Given the description of an element on the screen output the (x, y) to click on. 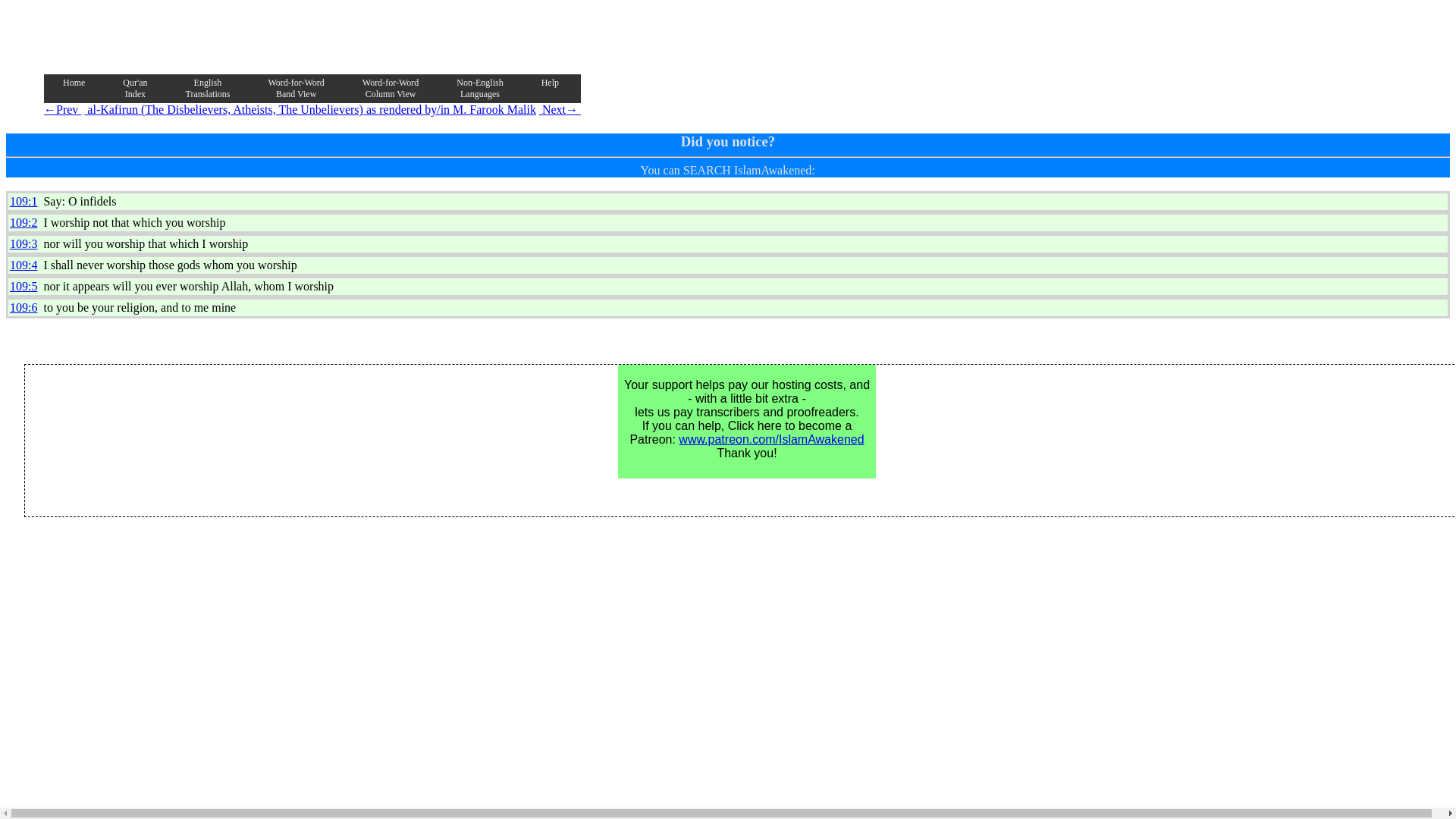
109:2 (23, 222)
109:5 (390, 88)
Help (23, 286)
Home (295, 88)
109:1 (550, 82)
109:3 (206, 88)
